Given the description of an element on the screen output the (x, y) to click on. 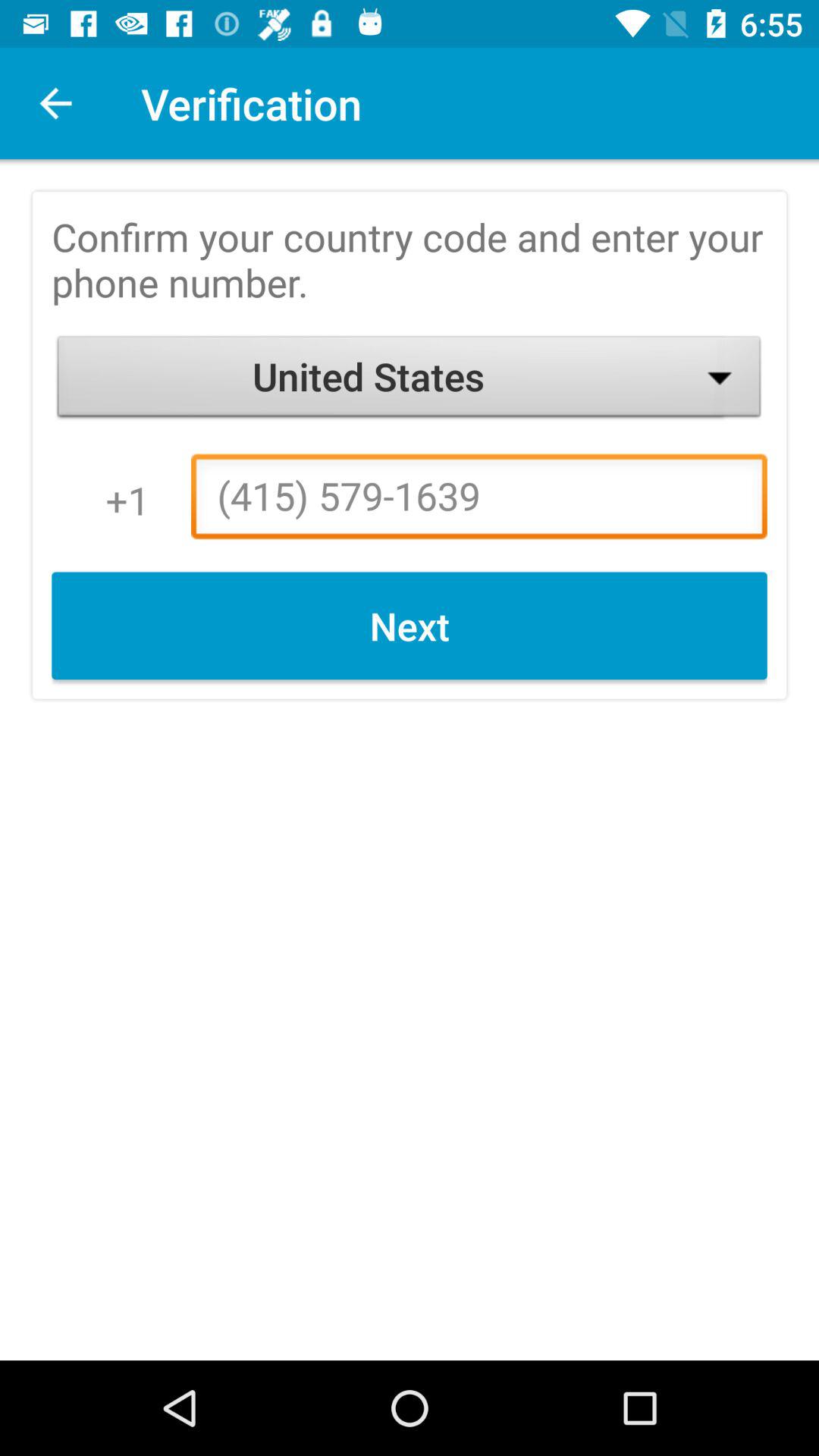
turn off icon next to 1 item (479, 500)
